Given the description of an element on the screen output the (x, y) to click on. 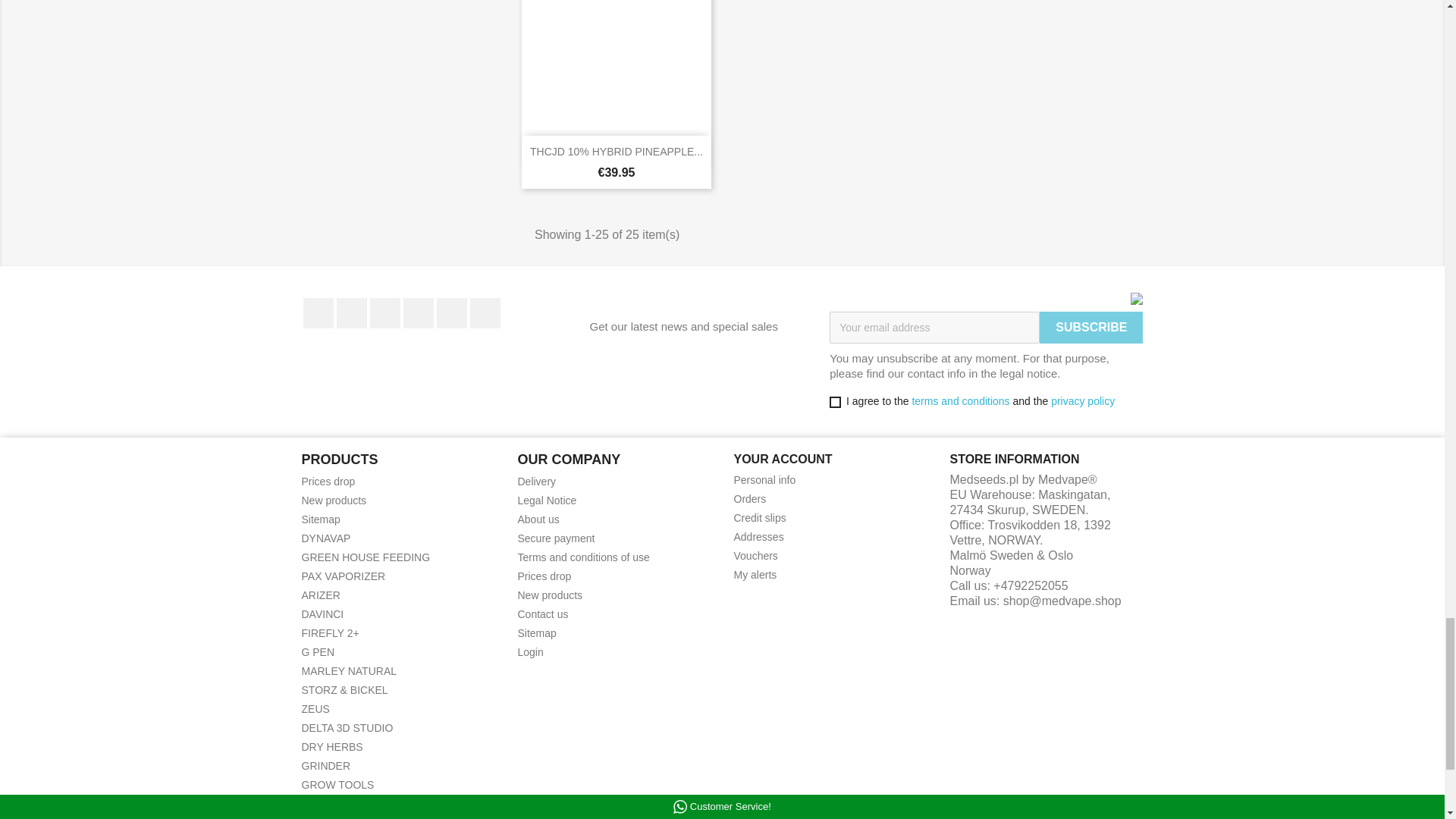
Lost ? Find what your are looking for (320, 519)
Our new products (333, 500)
Our special products (328, 481)
Subscribe (1090, 327)
